Given the description of an element on the screen output the (x, y) to click on. 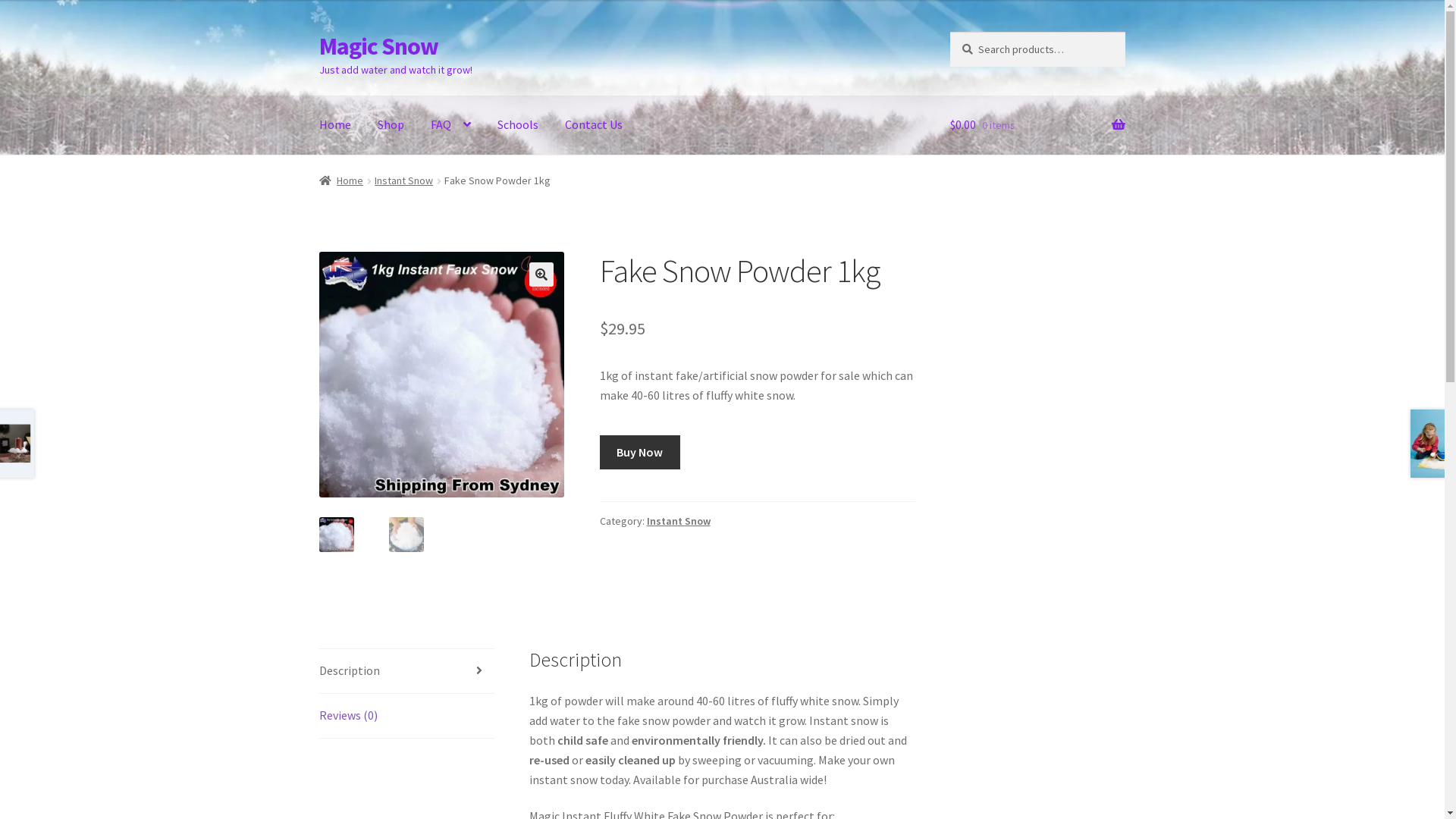
Instant Snow Element type: text (678, 520)
Magic Snow Element type: text (378, 46)
Reviews (0) Element type: text (406, 715)
Description Element type: text (406, 671)
Contact Us Element type: text (593, 124)
Instant Snow Element type: text (403, 180)
Shop Element type: text (390, 124)
Home Element type: text (335, 124)
FAQ Element type: text (450, 124)
Buy Now Element type: text (639, 452)
Search Element type: text (949, 31)
Handful of Instant Snow 1kg Element type: hover (686, 374)
Home Element type: text (341, 180)
Skip to navigation Element type: text (318, 31)
Instant Snow 1kg Element type: hover (441, 374)
$0.00 0 items Element type: text (1037, 124)
Schools Element type: text (517, 124)
